Given the description of an element on the screen output the (x, y) to click on. 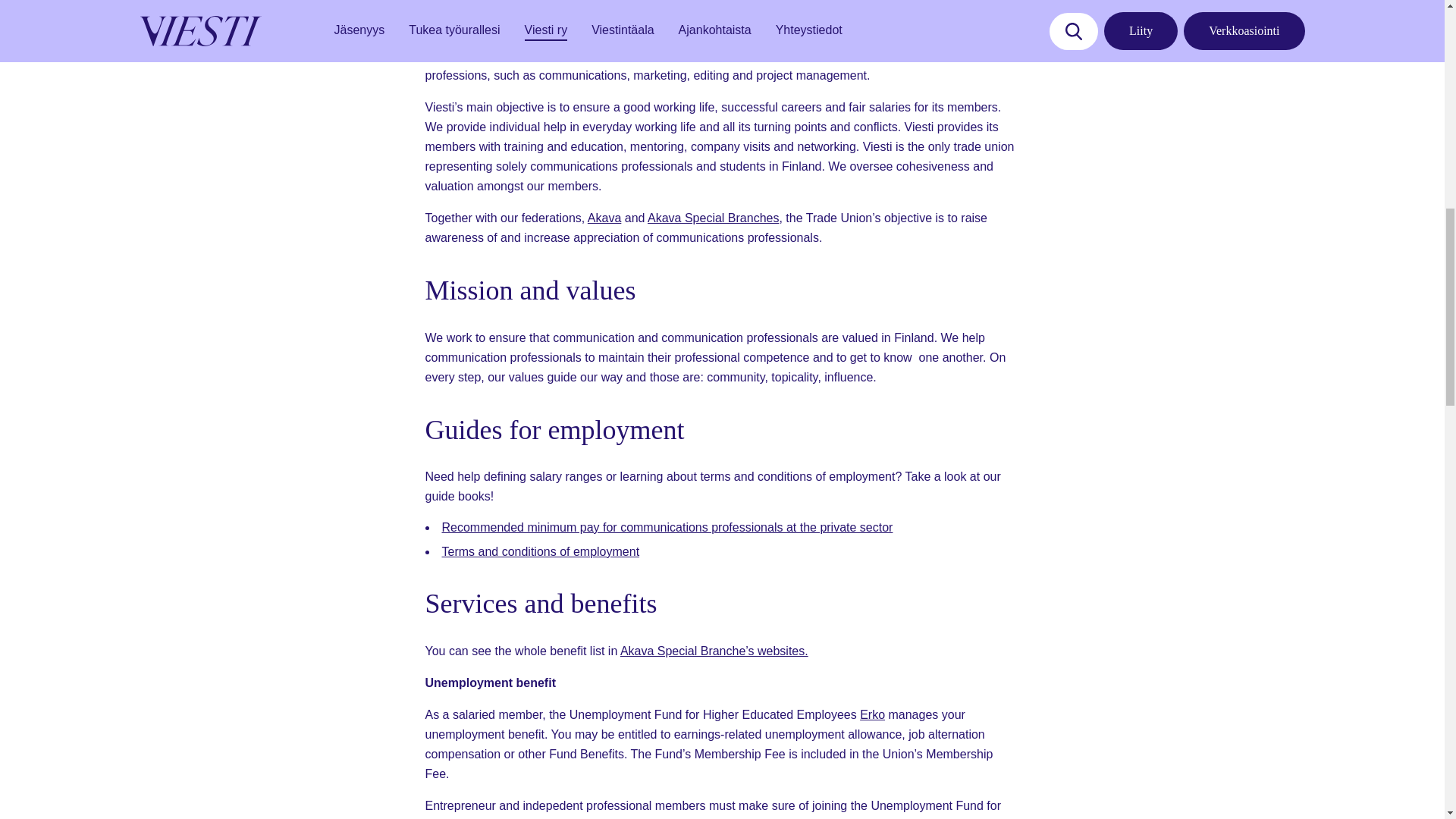
Terms and conditions of employment (540, 551)
Akava Special Branches (712, 217)
Akava (604, 217)
Erko (872, 714)
